Given the description of an element on the screen output the (x, y) to click on. 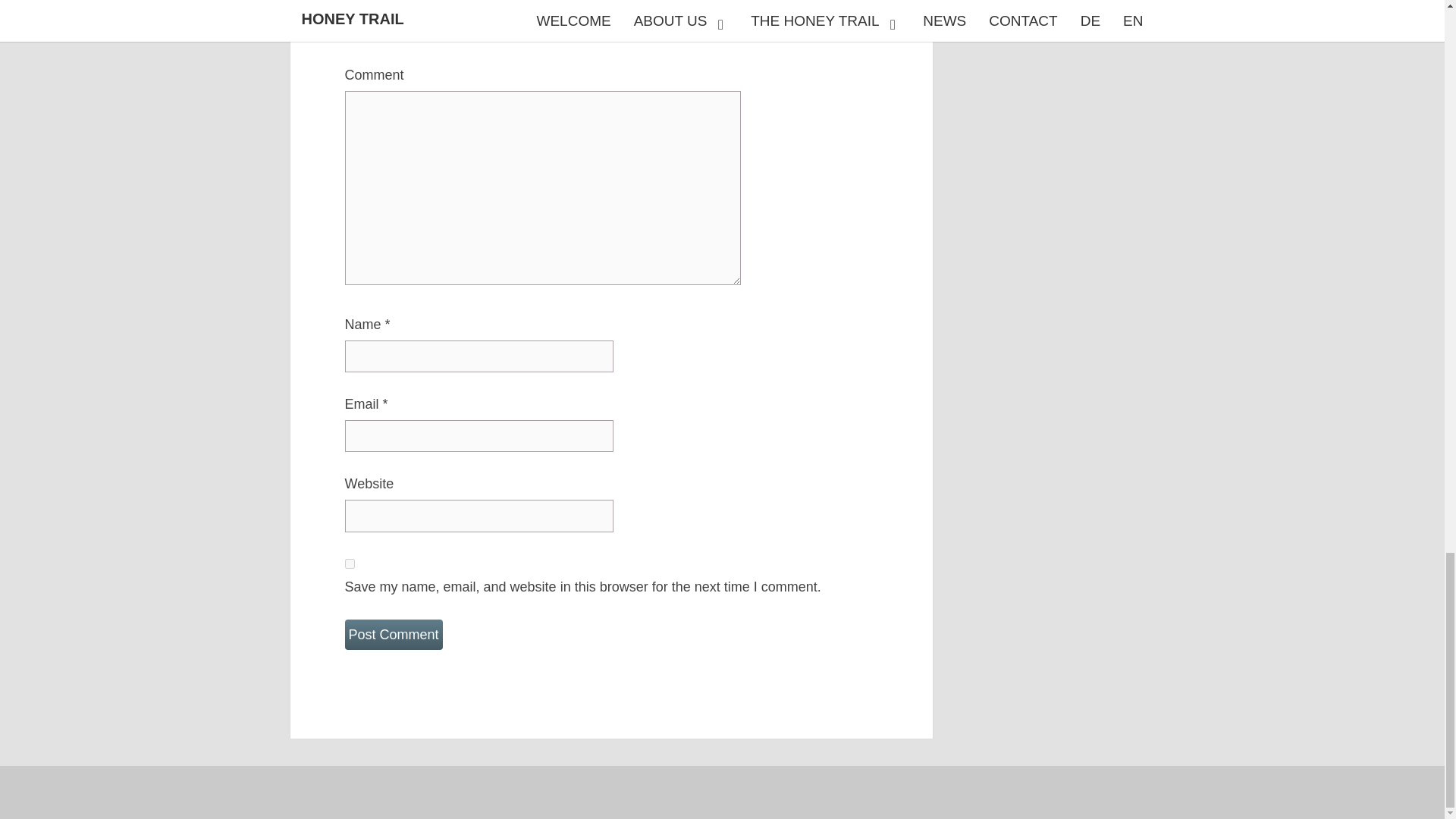
yes (348, 563)
Post Comment (392, 634)
Post Comment (392, 634)
